Given the description of an element on the screen output the (x, y) to click on. 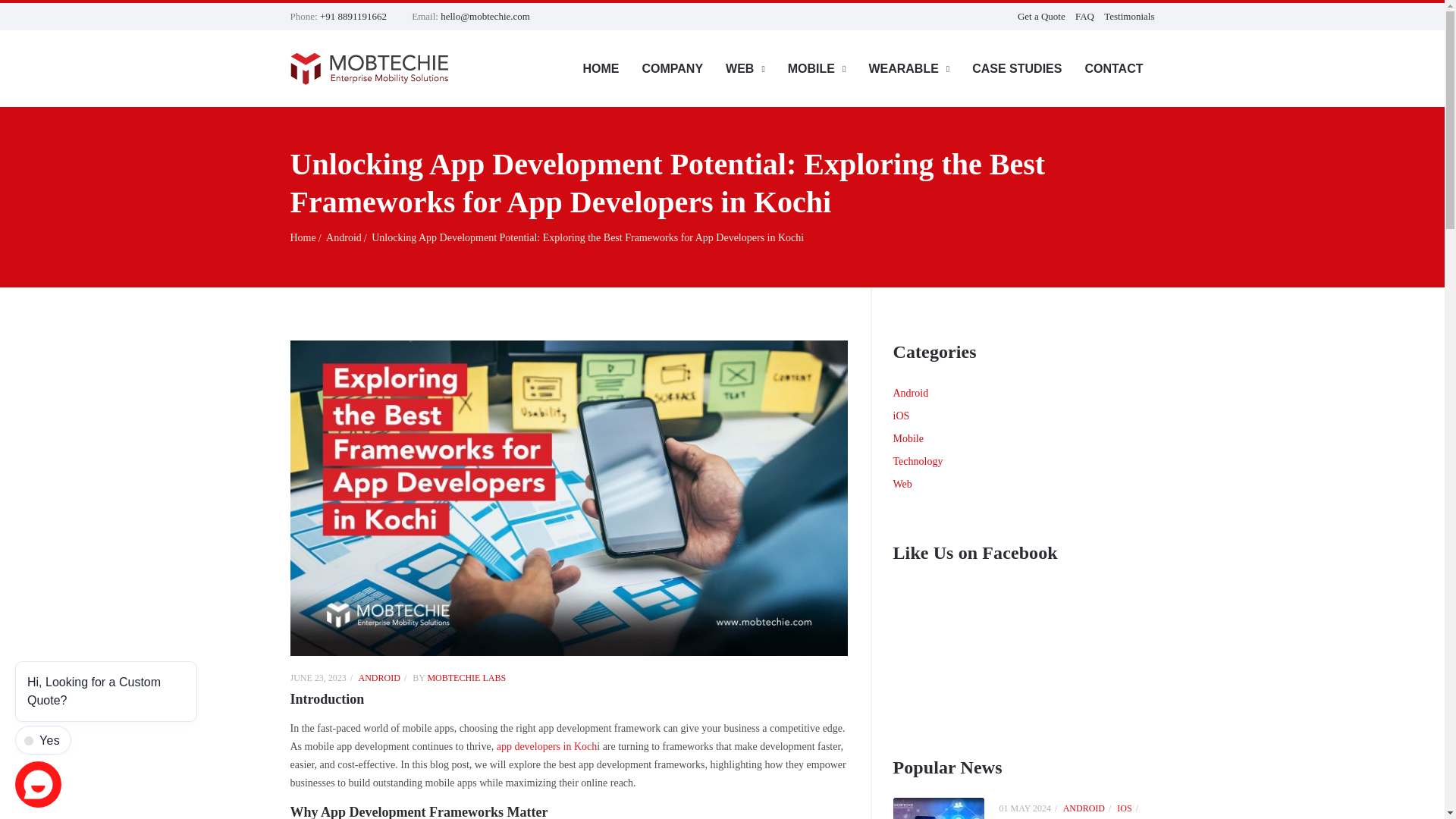
HOME (600, 68)
FAQ (1084, 16)
CONTACT (1113, 68)
ANDROID (384, 677)
Get a Quote (1041, 16)
Home (306, 238)
MOBILE (816, 68)
app developers in Koch (546, 746)
CASE STUDIES (1016, 68)
WEARABLE (908, 68)
Mobile App Development Company in Kochi Kerala - Mobtechie (306, 238)
Android (347, 238)
Testimonials (1128, 16)
COMPANY (672, 68)
